Given the description of an element on the screen output the (x, y) to click on. 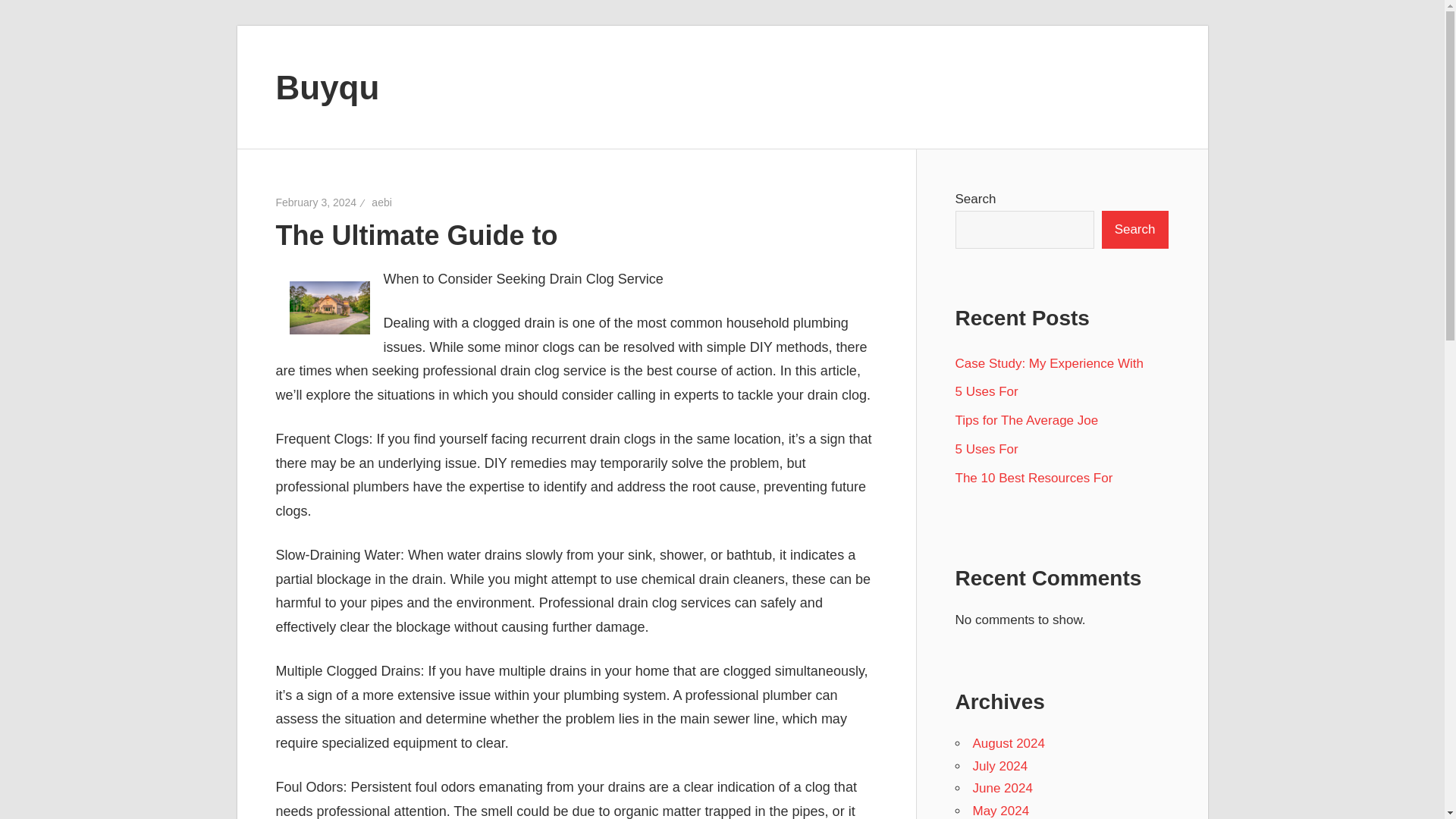
Tips for The Average Joe (1027, 420)
June 2024 (1002, 788)
May 2024 (1000, 810)
7:15 am (316, 202)
Buyqu (328, 86)
5 Uses For (986, 449)
July 2024 (999, 766)
The 10 Best Resources For (1034, 477)
February 3, 2024 (316, 202)
